Given the description of an element on the screen output the (x, y) to click on. 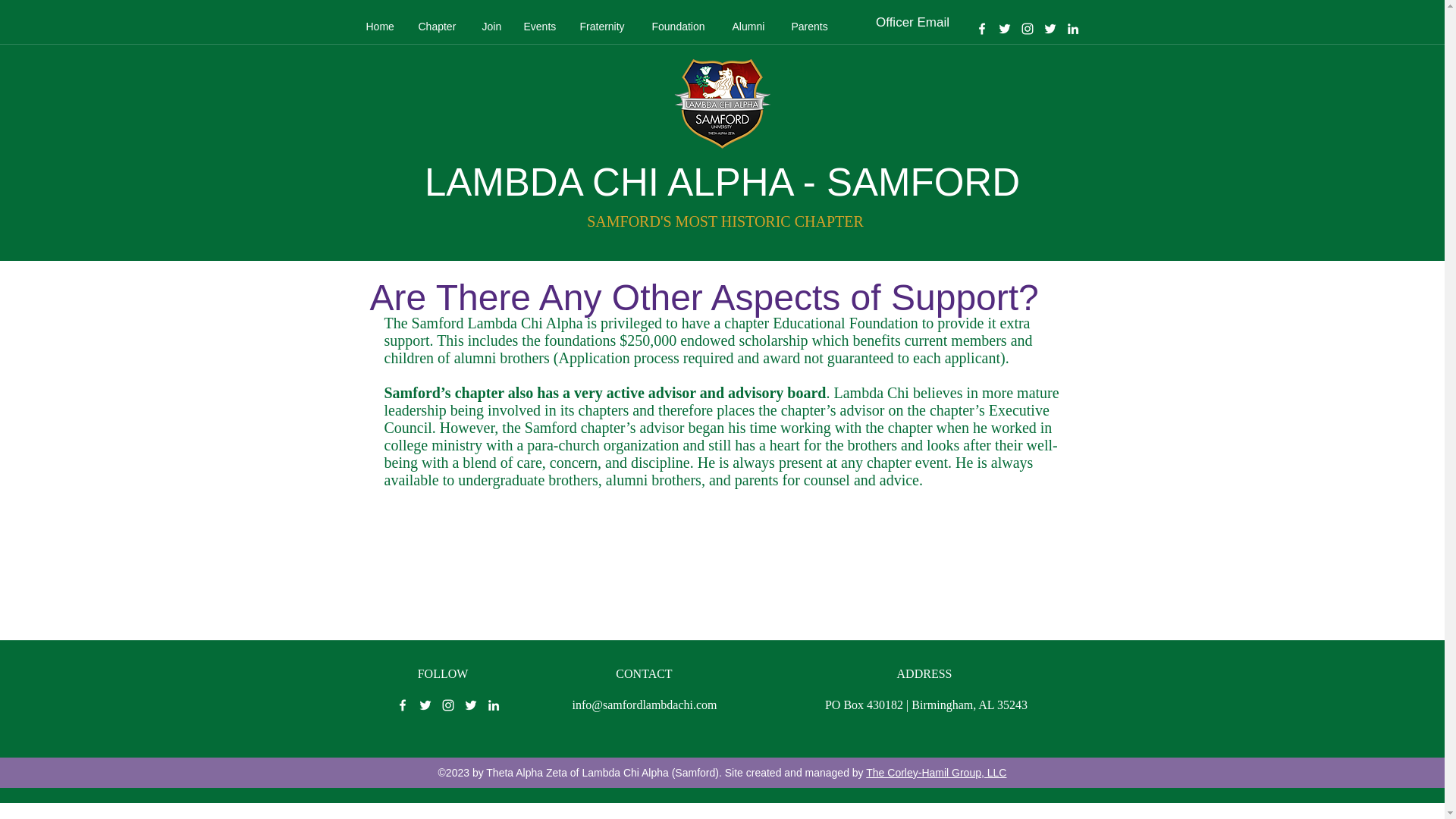
Home (381, 26)
The Corley-Hamil Group, LLC (936, 772)
Officer Email (912, 22)
